Given the description of an element on the screen output the (x, y) to click on. 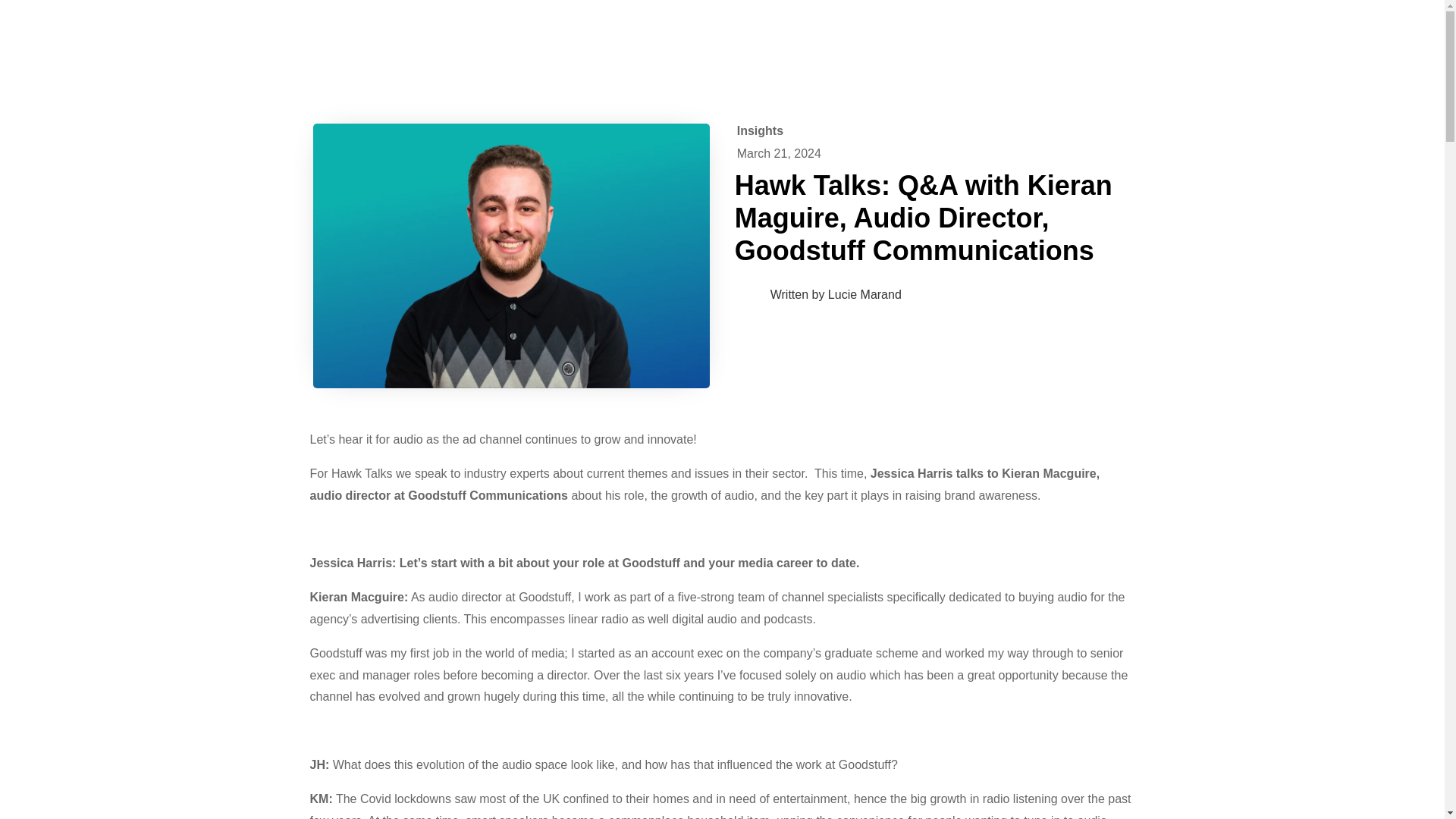
Lucie Marand (864, 294)
Hawk Talk (511, 255)
Insights (759, 130)
